Given the description of an element on the screen output the (x, y) to click on. 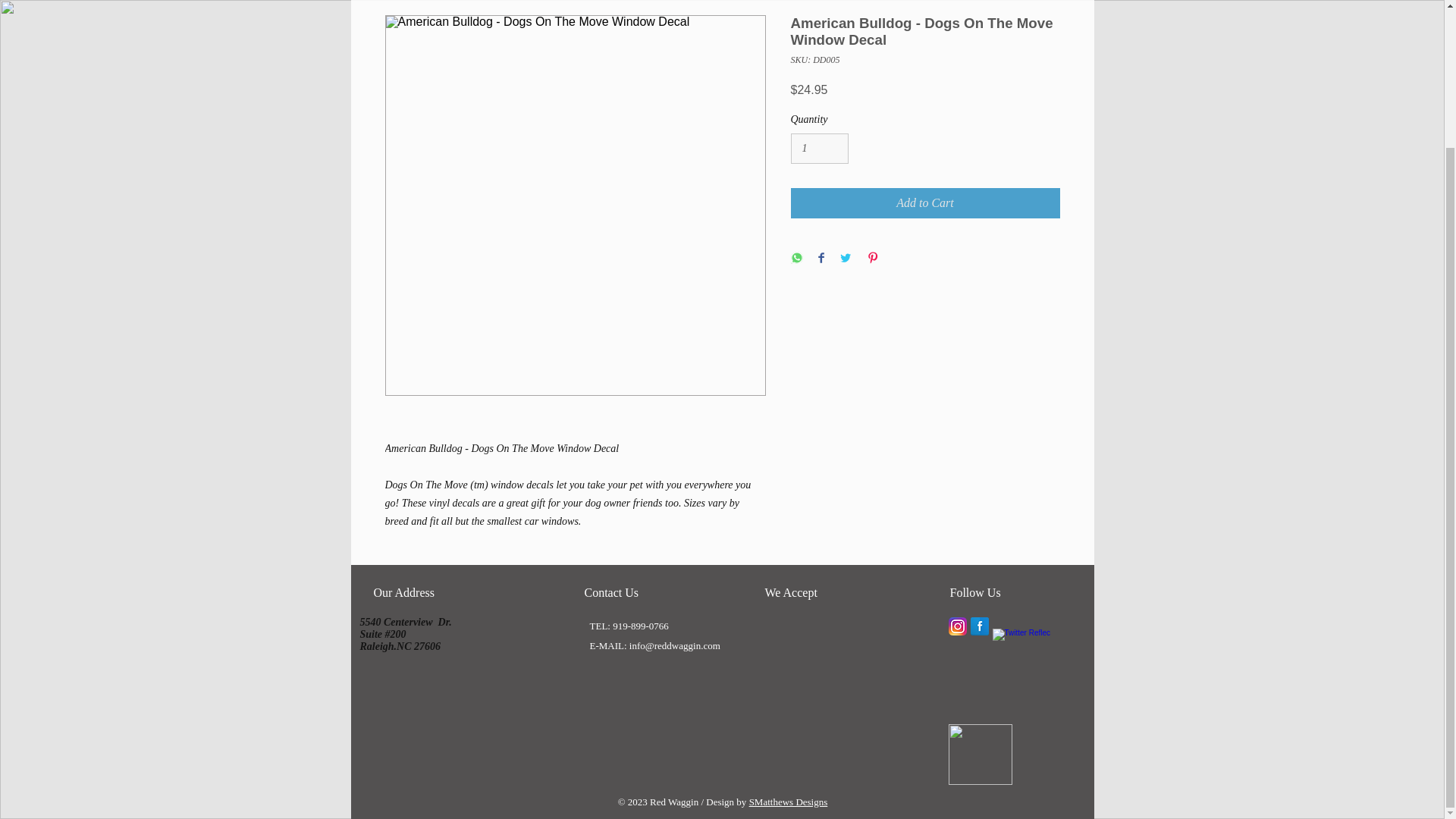
Add to Cart (924, 203)
1 (818, 148)
